Given the description of an element on the screen output the (x, y) to click on. 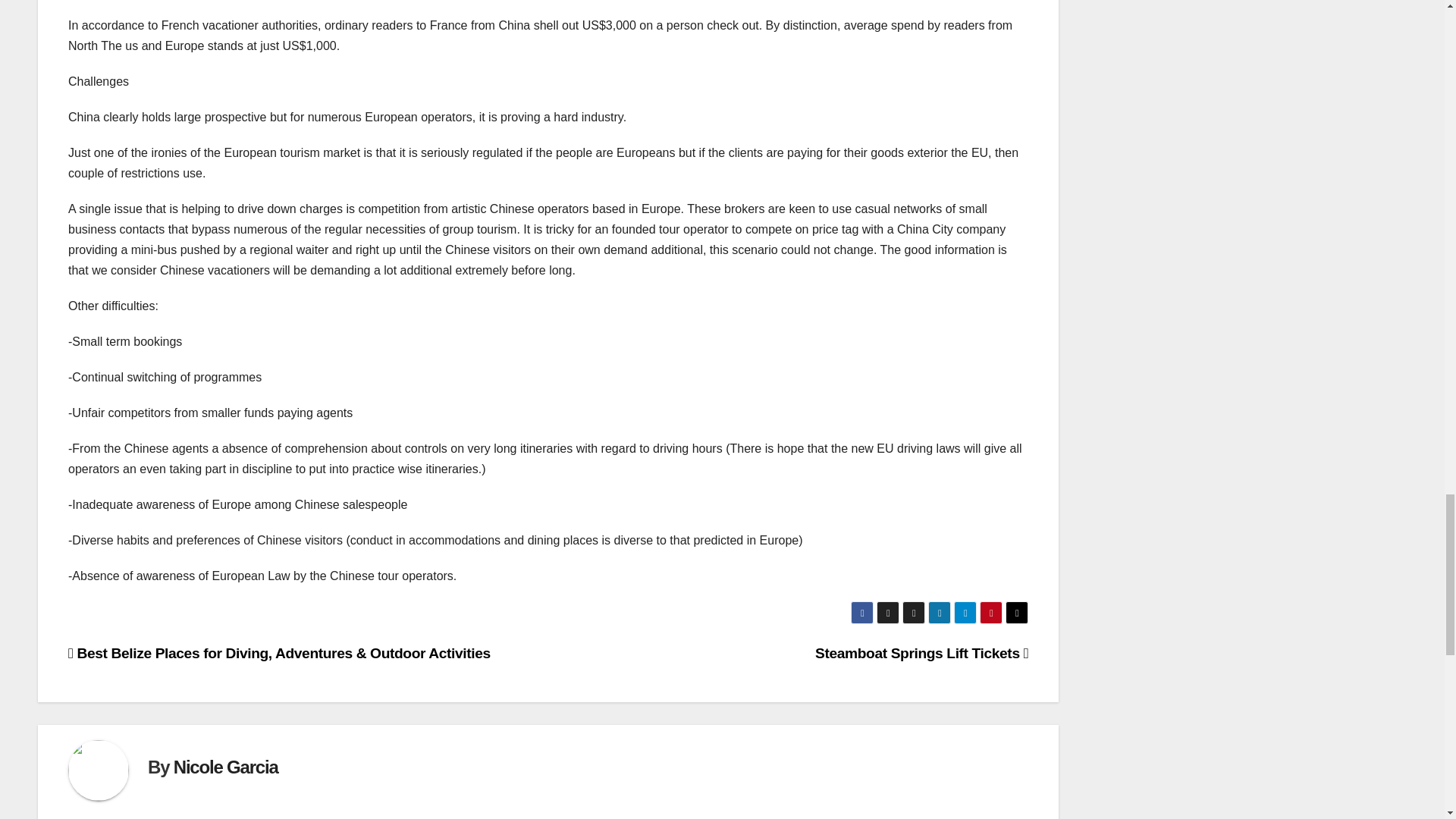
Steamboat Springs Lift Tickets (921, 652)
